Given the description of an element on the screen output the (x, y) to click on. 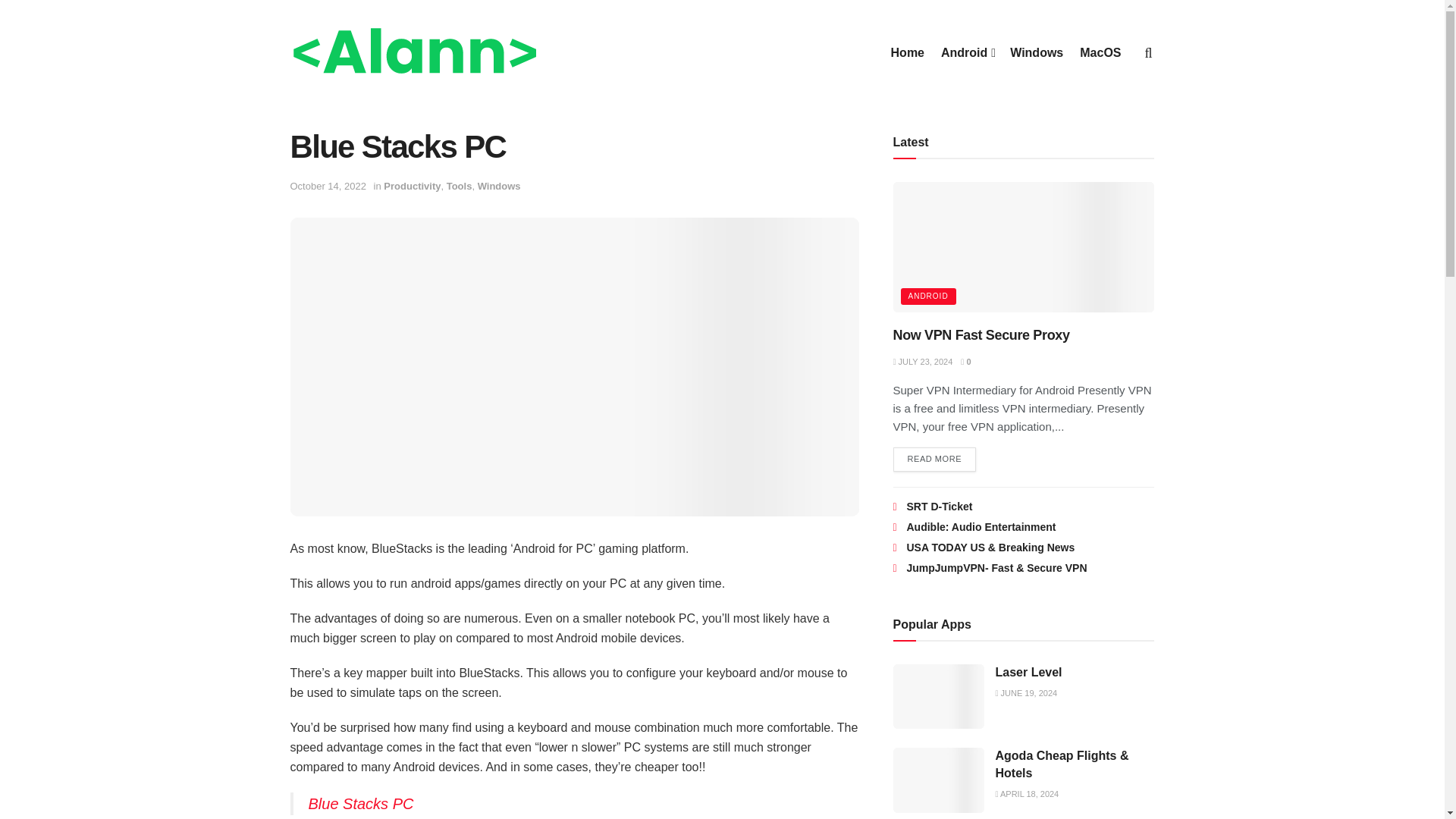
Android (966, 53)
Tools (458, 185)
Productivity (412, 185)
Home (907, 53)
Windows (1036, 53)
October 14, 2022 (327, 185)
Blue Stacks PC (360, 803)
Windows (499, 185)
MacOS (1100, 53)
